Given the description of an element on the screen output the (x, y) to click on. 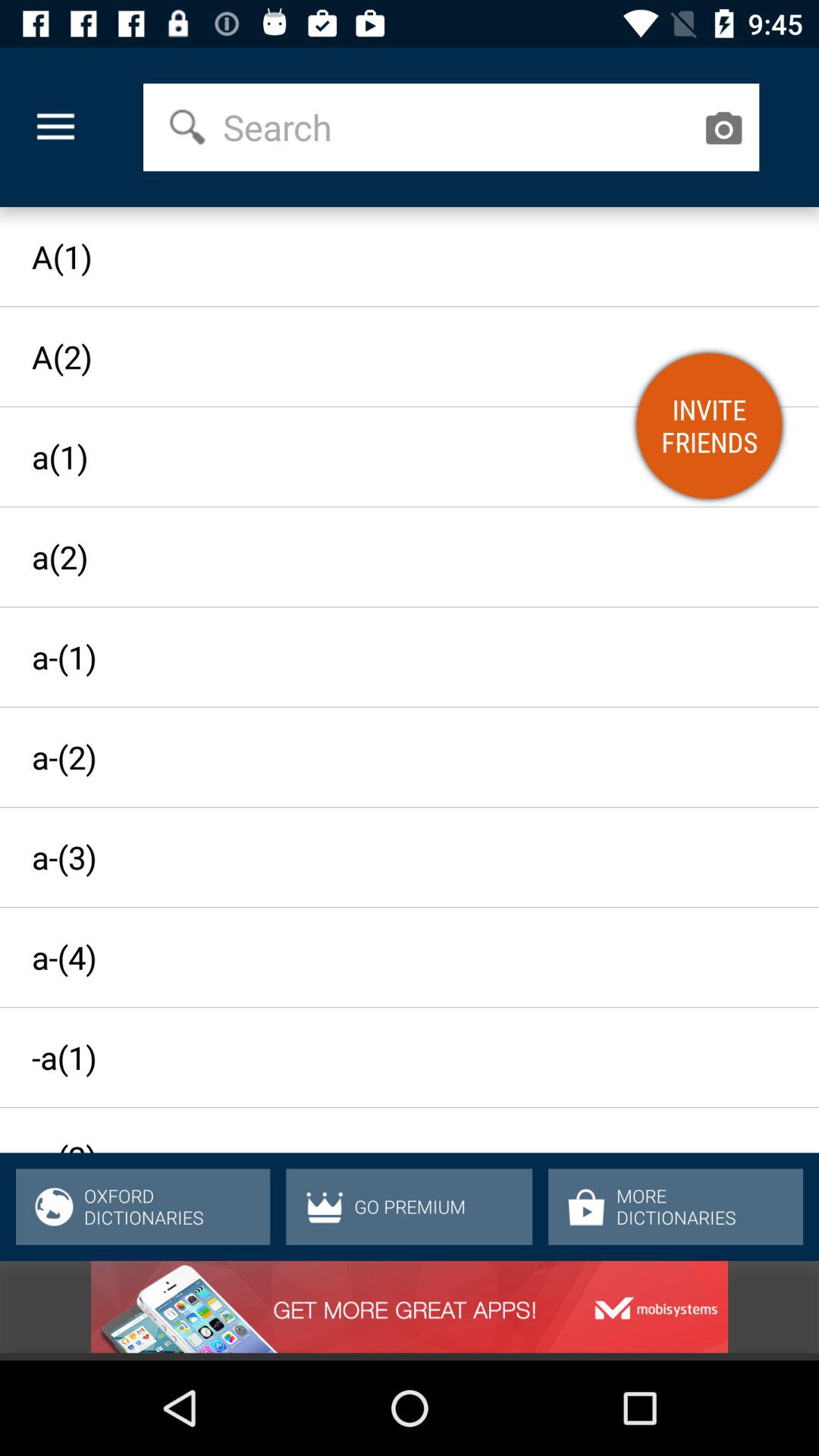
turn off the icon above a(1) icon (55, 127)
